Given the description of an element on the screen output the (x, y) to click on. 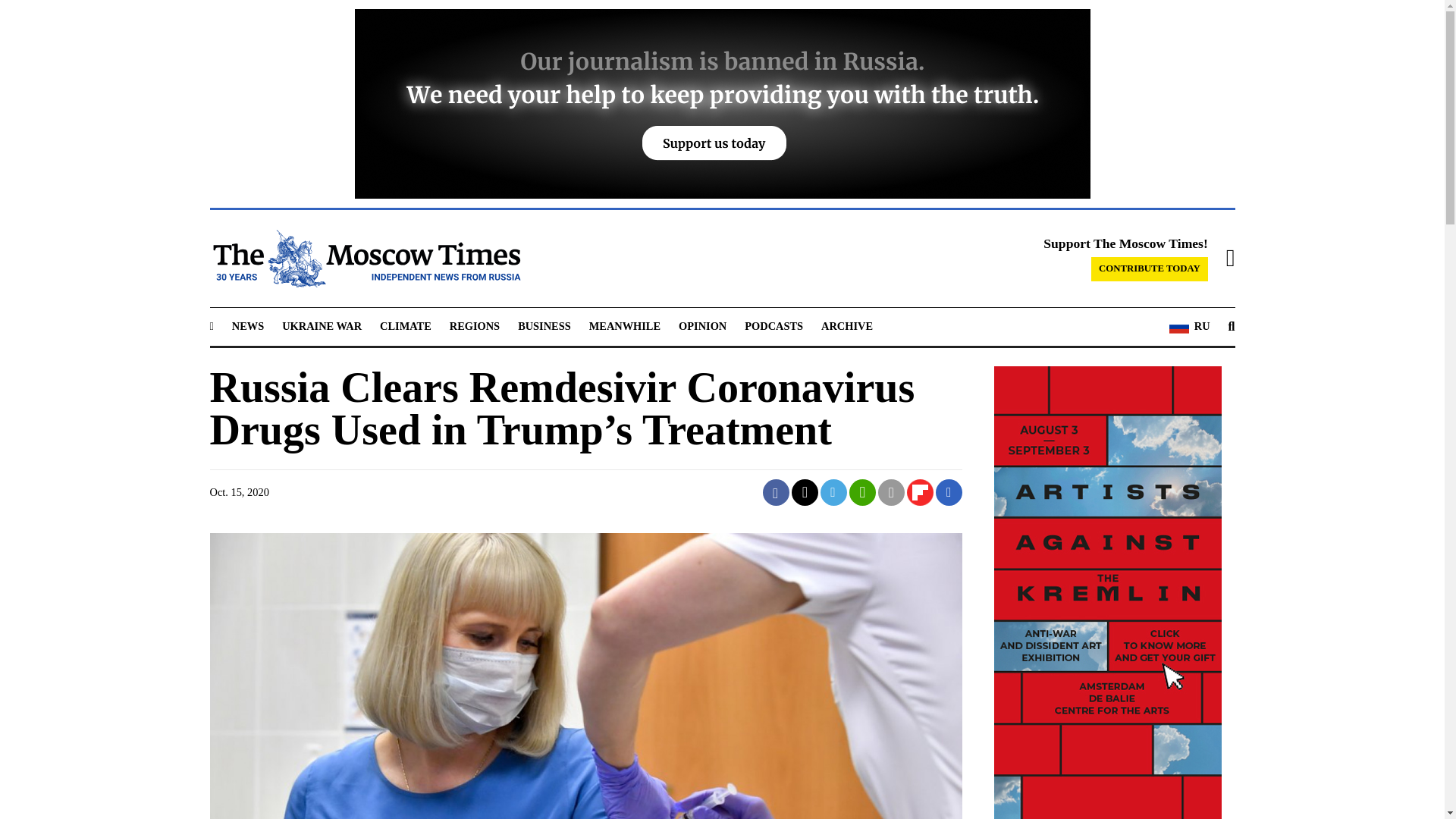
Share on Facebook (775, 492)
ARCHIVE (846, 326)
RU (1189, 326)
REGIONS (474, 326)
The Moscow Times - Independent News from Russia (364, 258)
Share on Flipboard (920, 492)
UKRAINE WAR (321, 326)
OPINION (702, 326)
Share on Telegram (834, 492)
Share on Twitter (805, 492)
MEANWHILE (625, 326)
CLIMATE (405, 326)
CONTRIBUTE TODAY (1149, 269)
NEWS (247, 326)
PODCASTS (773, 326)
